Given the description of an element on the screen output the (x, y) to click on. 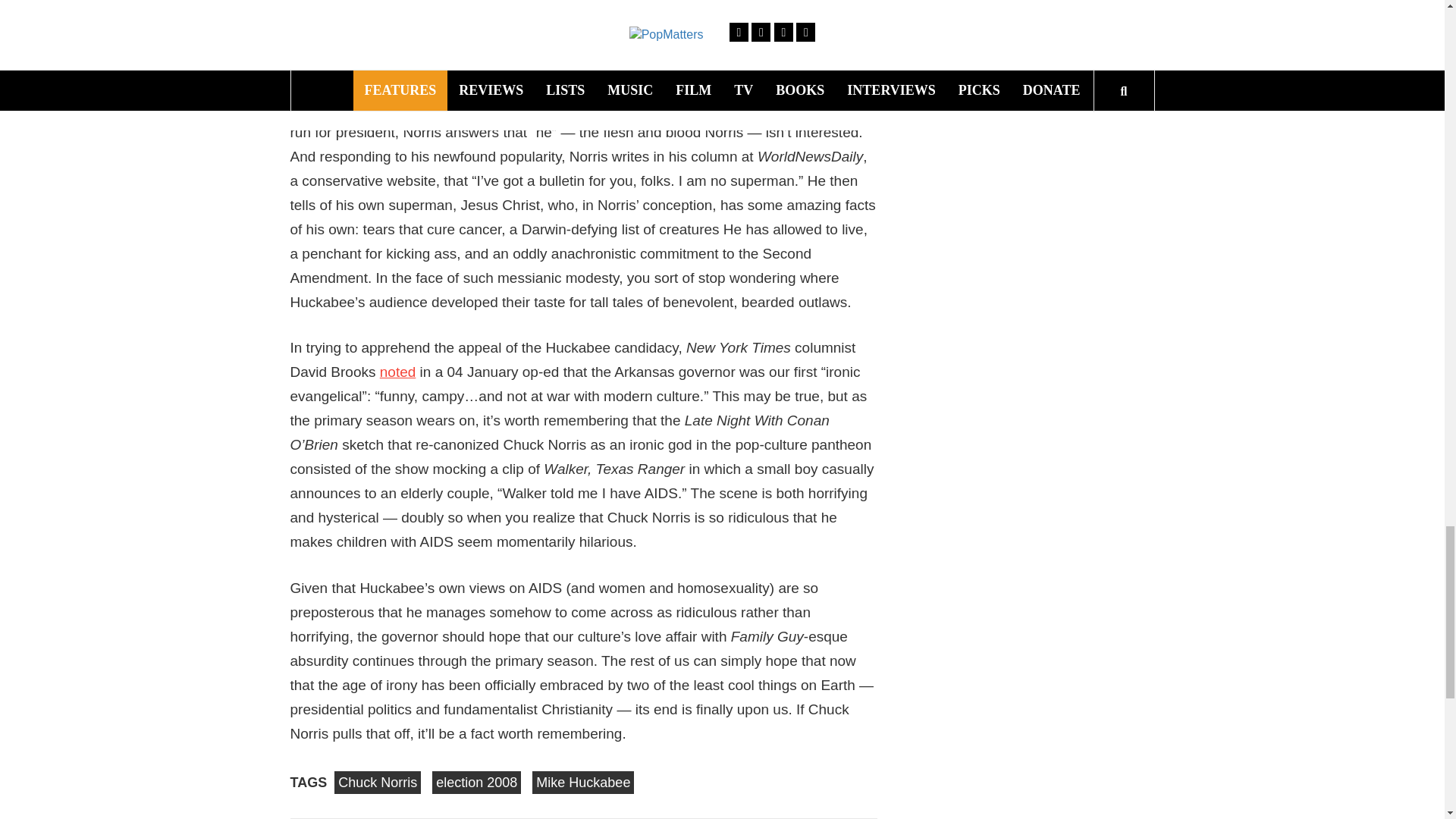
election 2008 (476, 782)
Mike Huckabee (582, 782)
Chuck Norris (377, 782)
noted (398, 371)
